Given the description of an element on the screen output the (x, y) to click on. 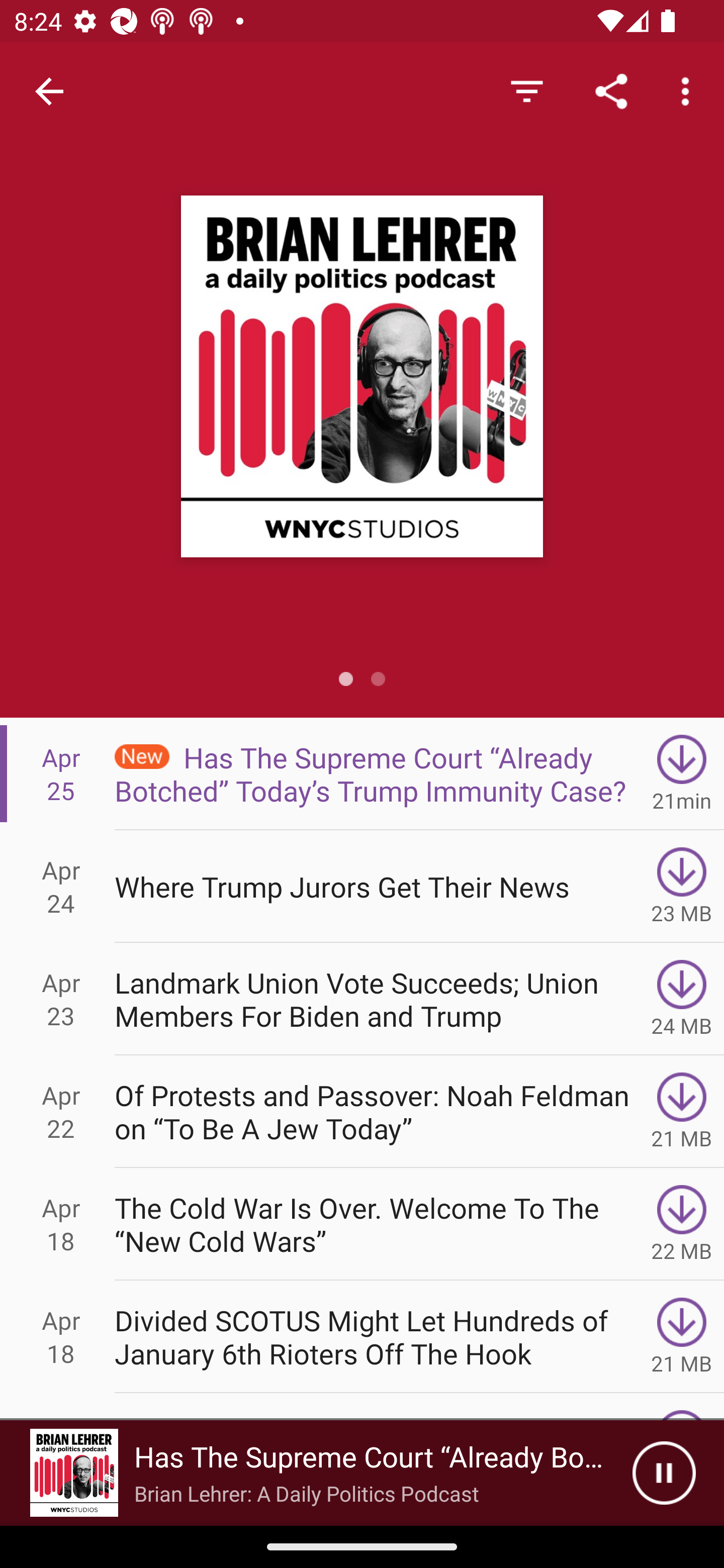
Navigate up (49, 91)
Hide Episodes (526, 90)
Share Link (611, 90)
More options (688, 90)
Download 21min (681, 773)
Download 23 MB (681, 885)
Download 24 MB (681, 998)
Download 21 MB (681, 1111)
Download 22 MB (681, 1224)
Download 21 MB (681, 1336)
Pause (663, 1472)
